Given the description of an element on the screen output the (x, y) to click on. 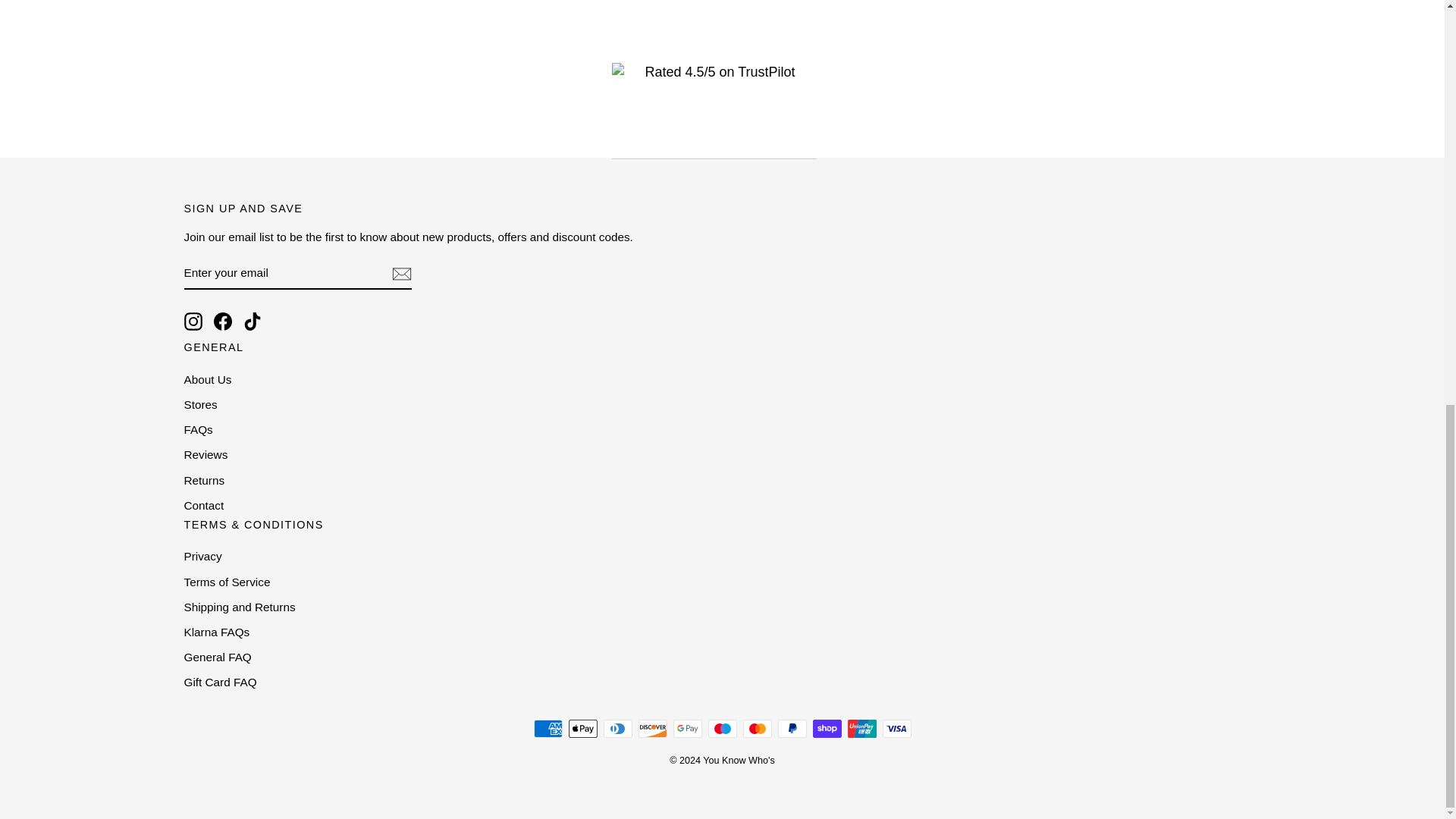
Apple Pay (582, 728)
You Know Who's on Instagram (192, 321)
Discover (652, 728)
American Express (548, 728)
instagram (192, 321)
You Know Who's on Facebook (222, 321)
icon-email (400, 273)
You Know Who's on TikTok (251, 321)
Google Pay (686, 728)
Diners Club (617, 728)
